Given the description of an element on the screen output the (x, y) to click on. 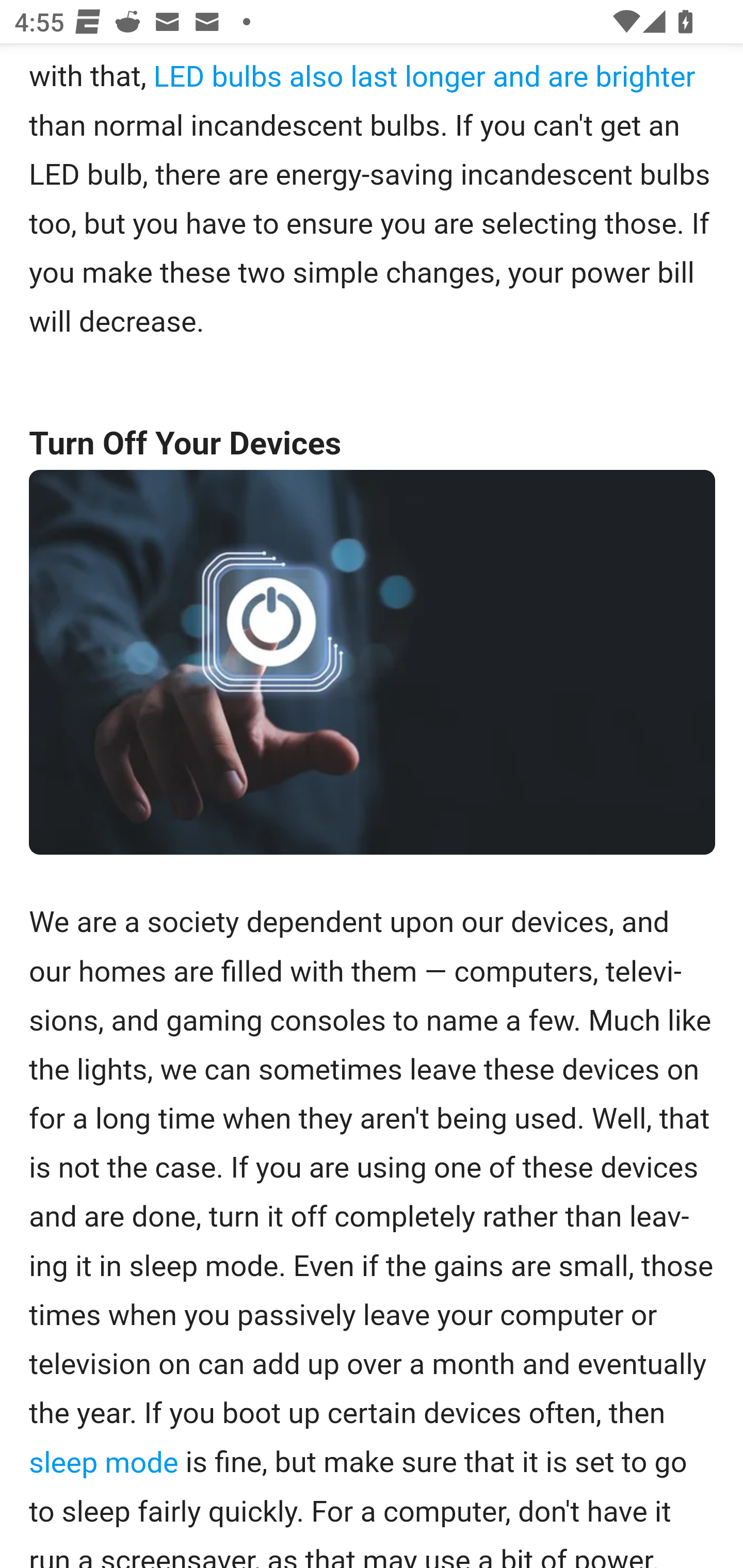
LED bulbs also last longer and are brighter (423, 77)
sleep mode (103, 1462)
